Given the description of an element on the screen output the (x, y) to click on. 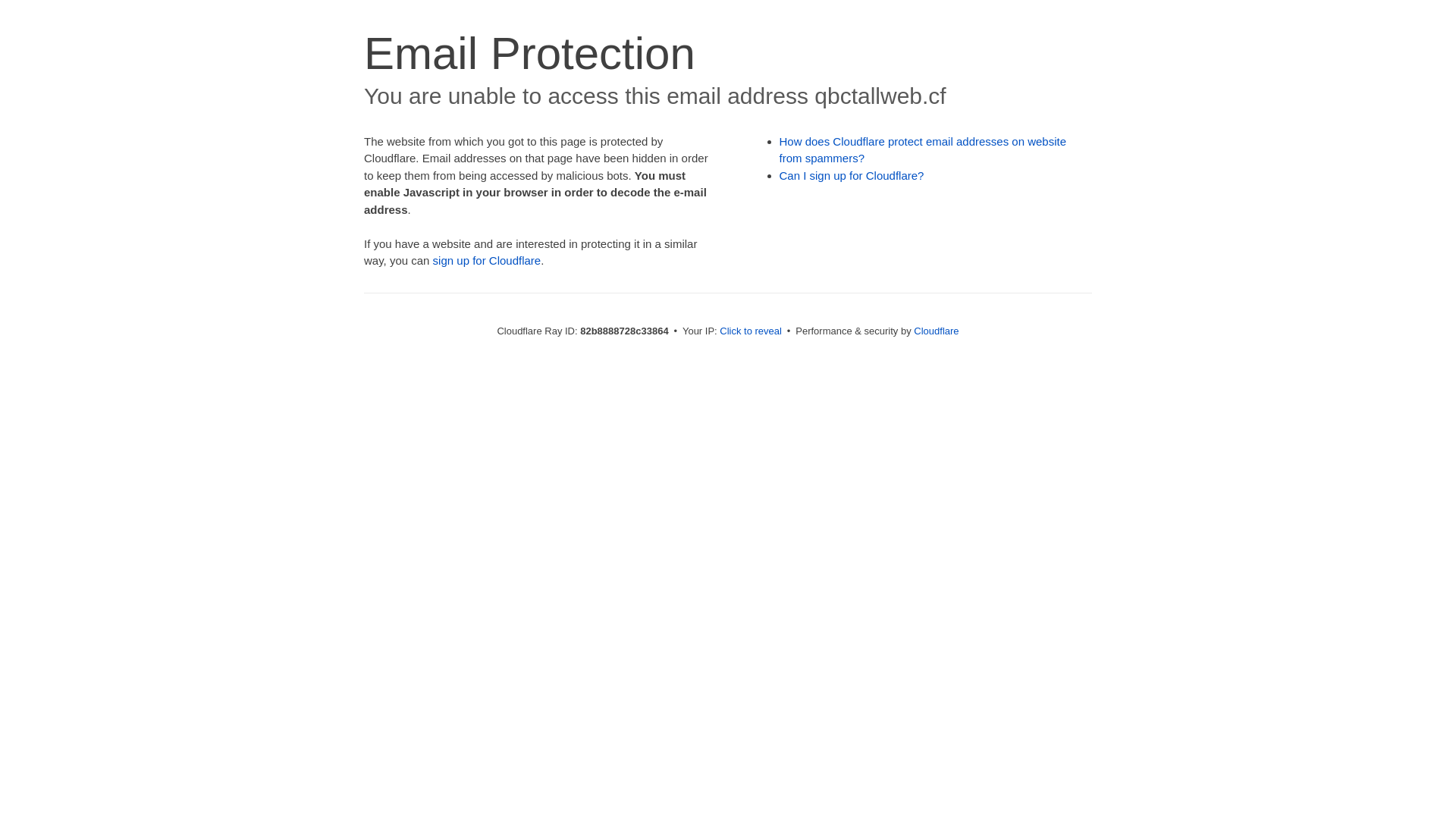
Click to reveal Element type: text (750, 330)
sign up for Cloudflare Element type: text (487, 260)
Cloudflare Element type: text (935, 330)
Can I sign up for Cloudflare? Element type: text (851, 175)
